Given the description of an element on the screen output the (x, y) to click on. 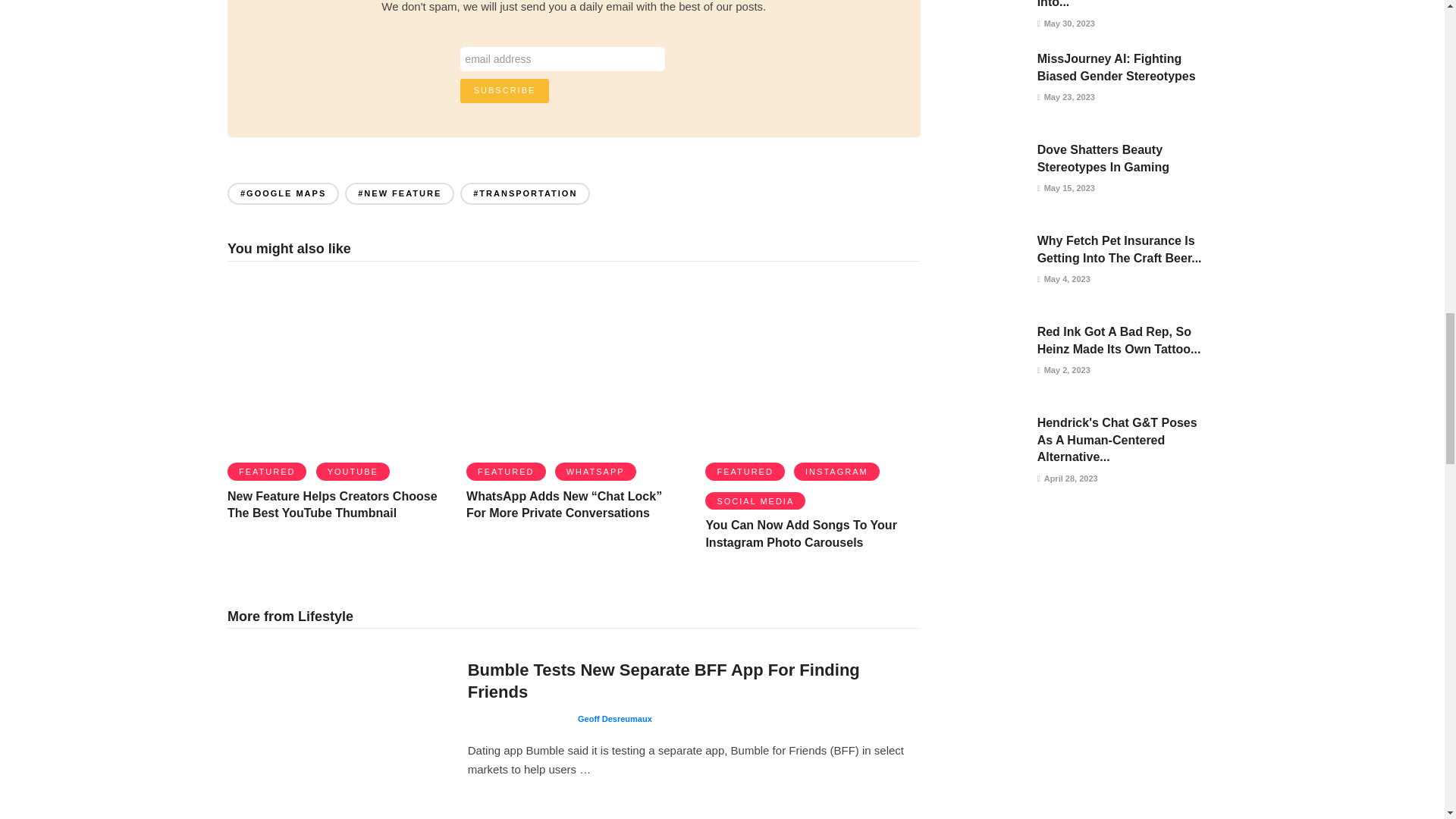
Subscribe (505, 90)
